Given the description of an element on the screen output the (x, y) to click on. 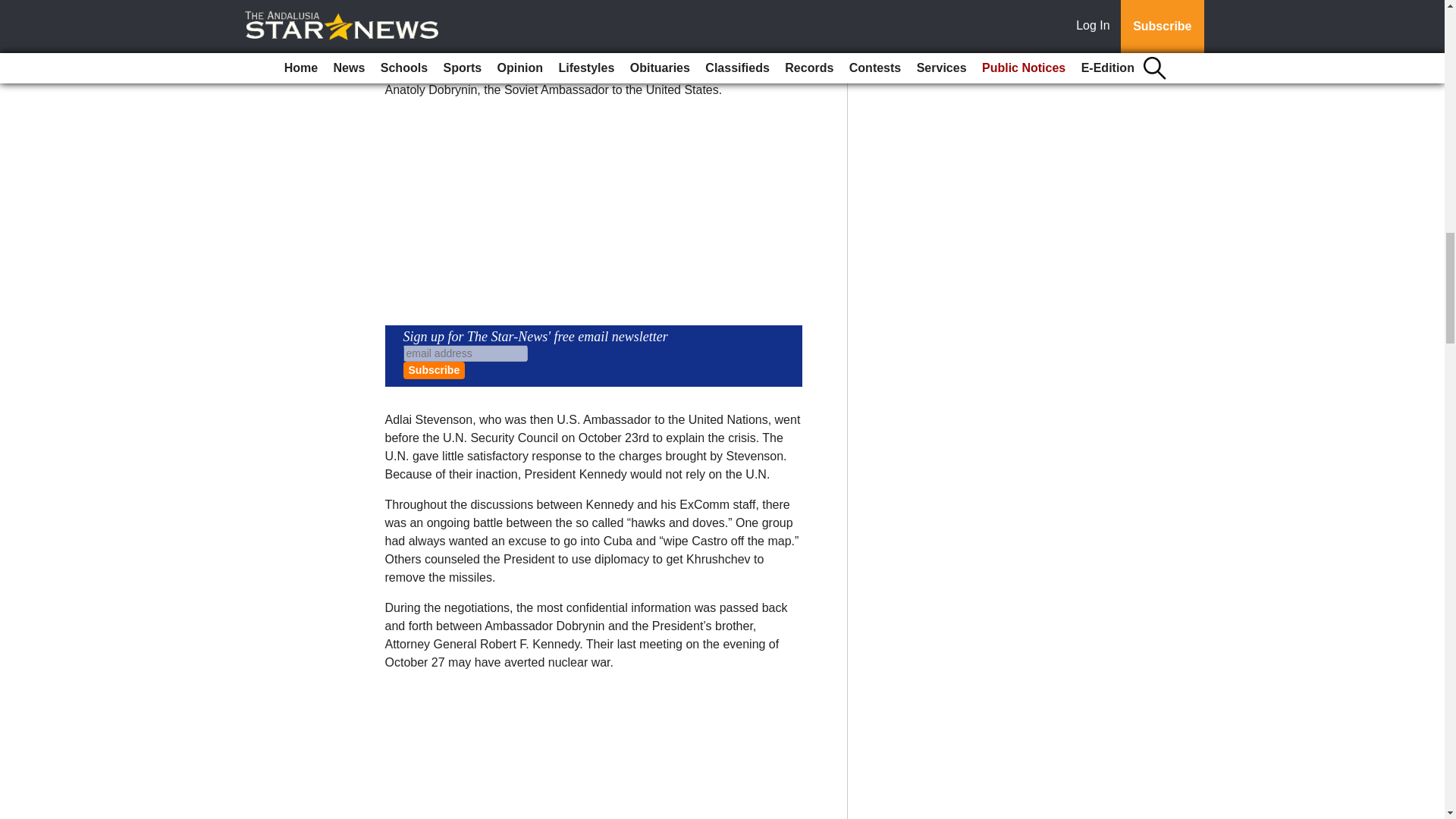
Subscribe (434, 370)
Subscribe (434, 370)
